Given the description of an element on the screen output the (x, y) to click on. 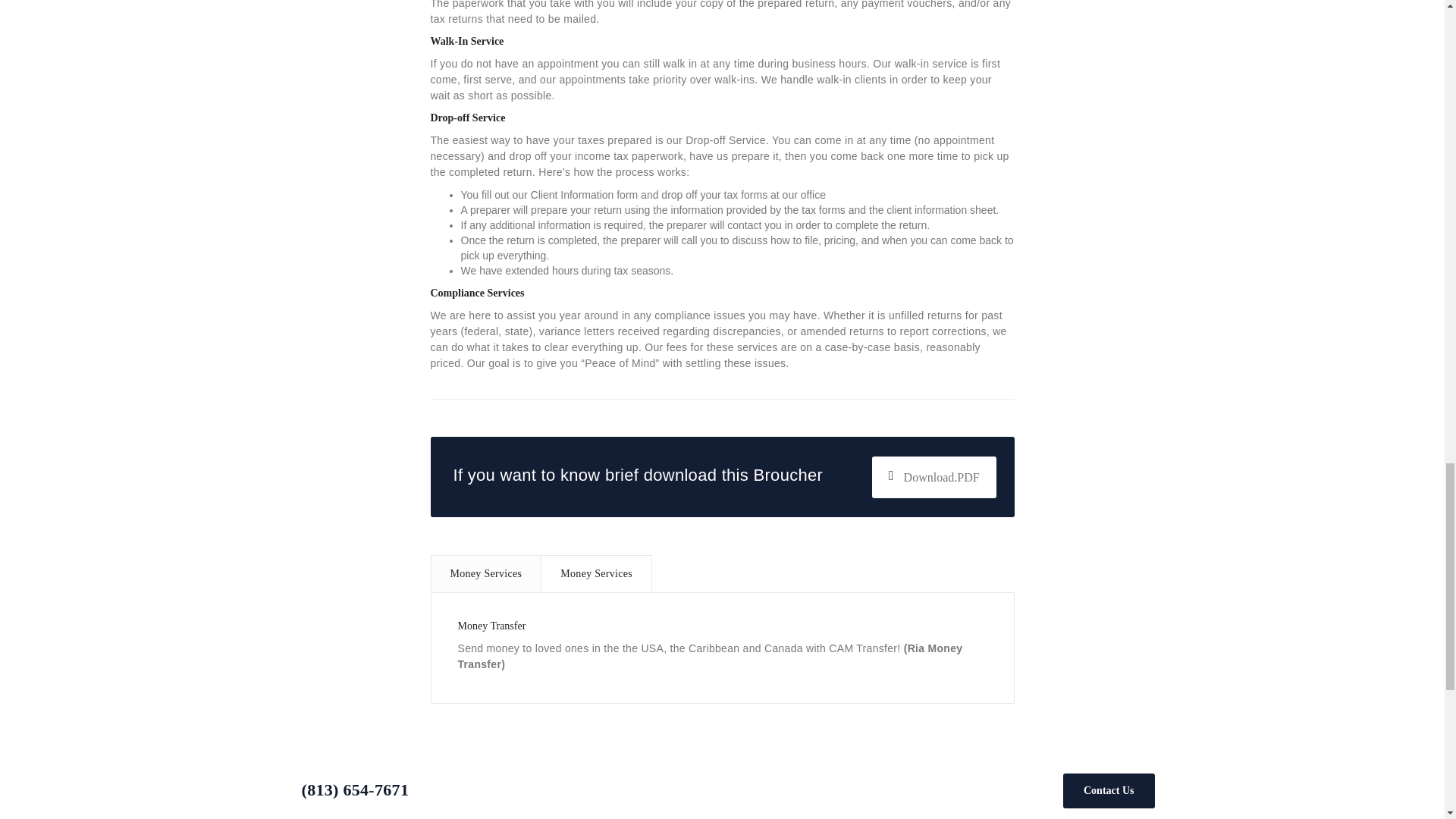
Money Services (485, 574)
Download.PDF (933, 476)
Money Services (595, 574)
Contact Us (1108, 790)
